Given the description of an element on the screen output the (x, y) to click on. 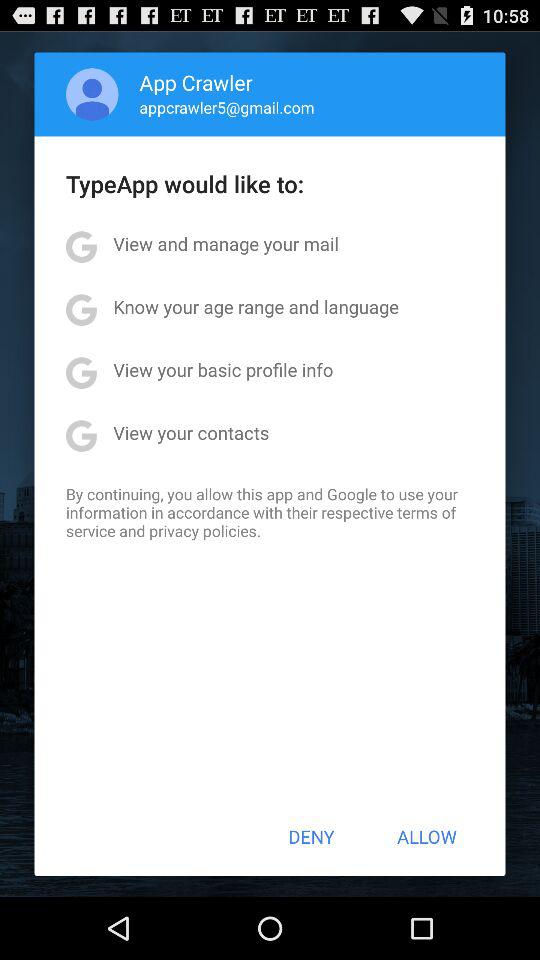
click app above the view your basic (255, 306)
